Given the description of an element on the screen output the (x, y) to click on. 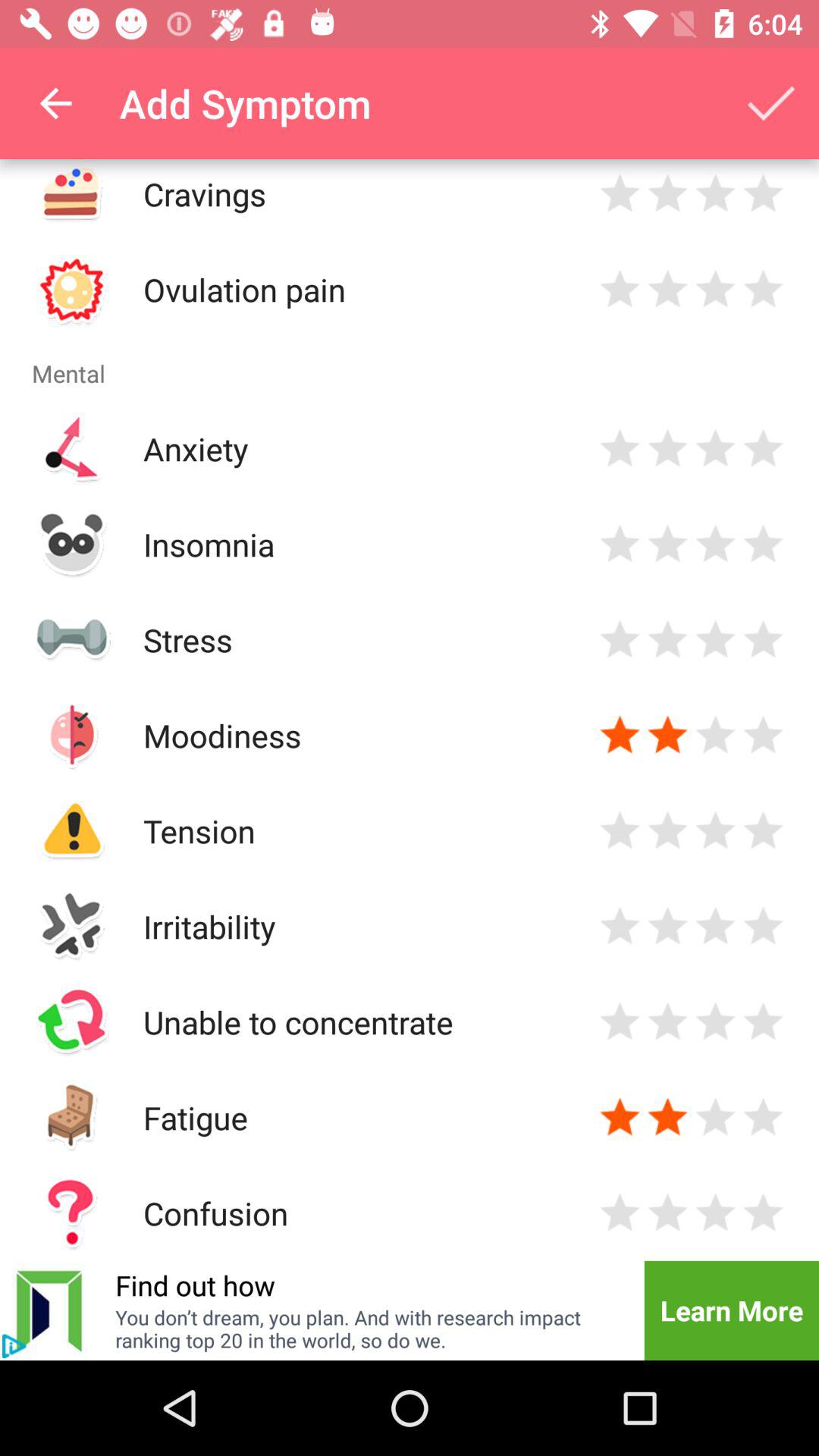
click item next to the learn more icon (195, 1285)
